Given the description of an element on the screen output the (x, y) to click on. 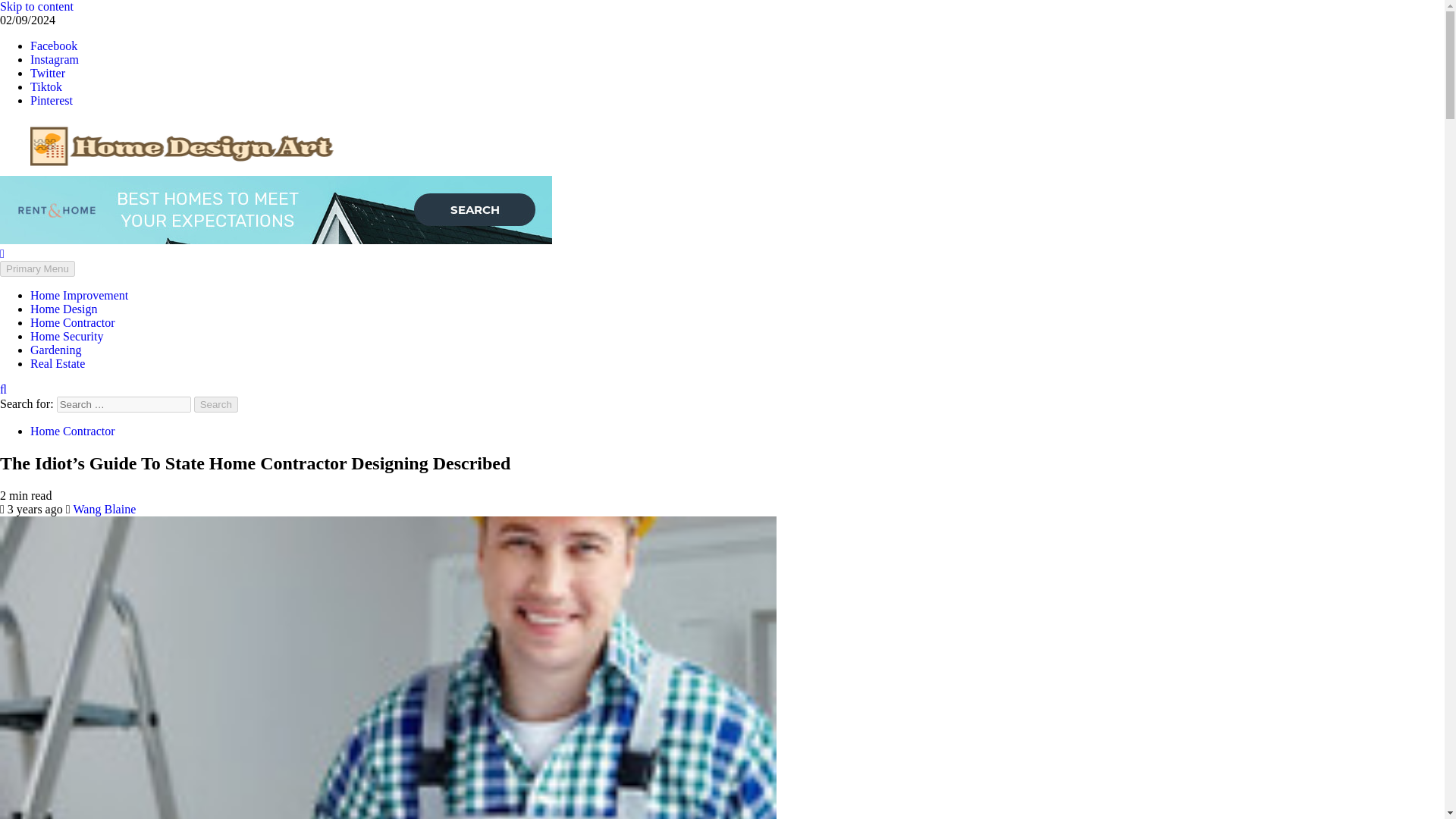
Search (215, 404)
Home Design (63, 308)
Pinterest (51, 100)
Search (215, 404)
Home Contractor (72, 431)
Search (215, 404)
Real Estate (57, 363)
Home Improvement (79, 295)
Twitter (47, 72)
Wang Blaine (105, 508)
